Given the description of an element on the screen output the (x, y) to click on. 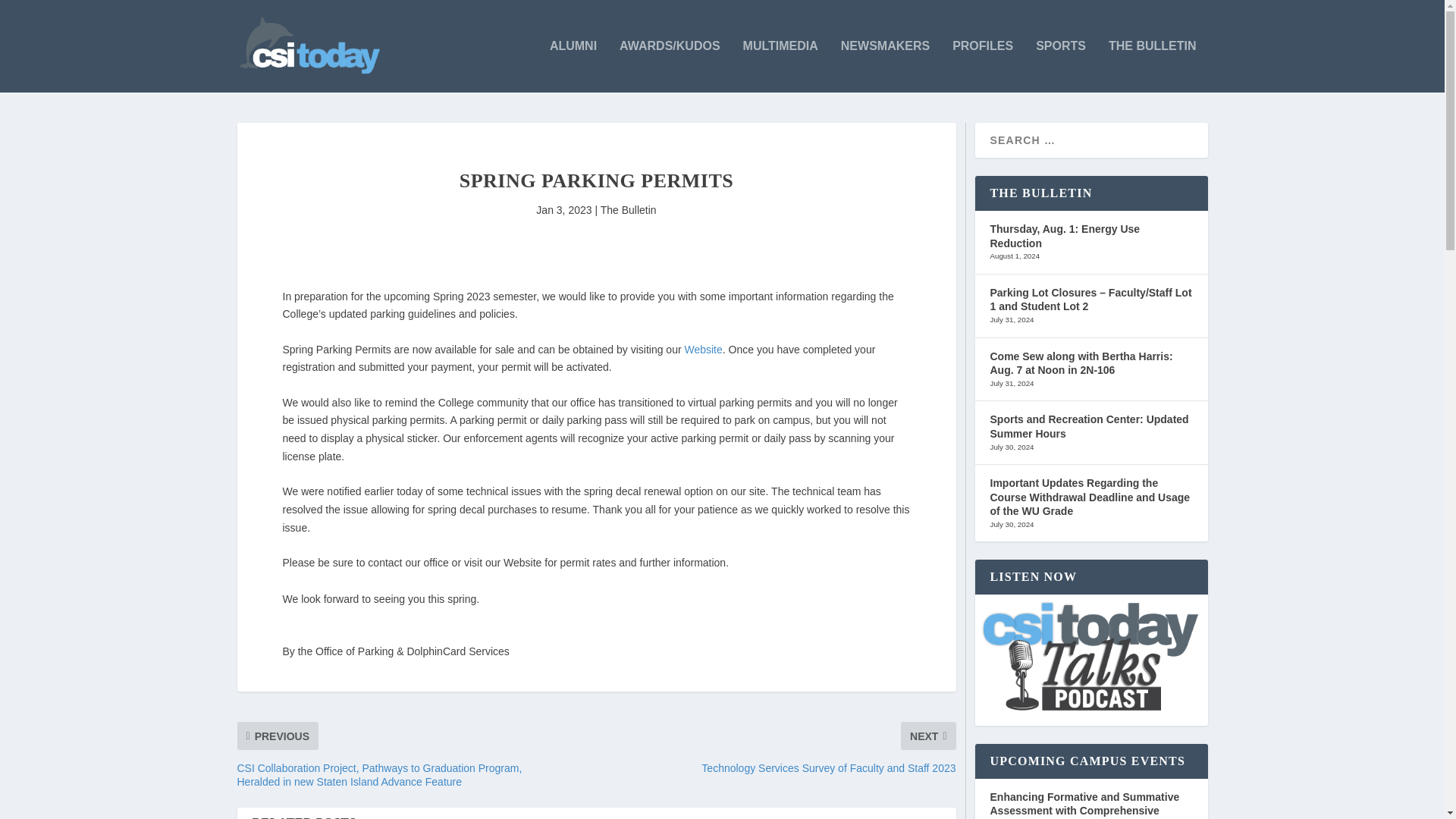
THE BULLETIN (1152, 66)
ALUMNI (573, 66)
SPORTS (1060, 66)
MULTIMEDIA (780, 66)
PROFILES (982, 66)
NEWSMAKERS (885, 66)
